Given the description of an element on the screen output the (x, y) to click on. 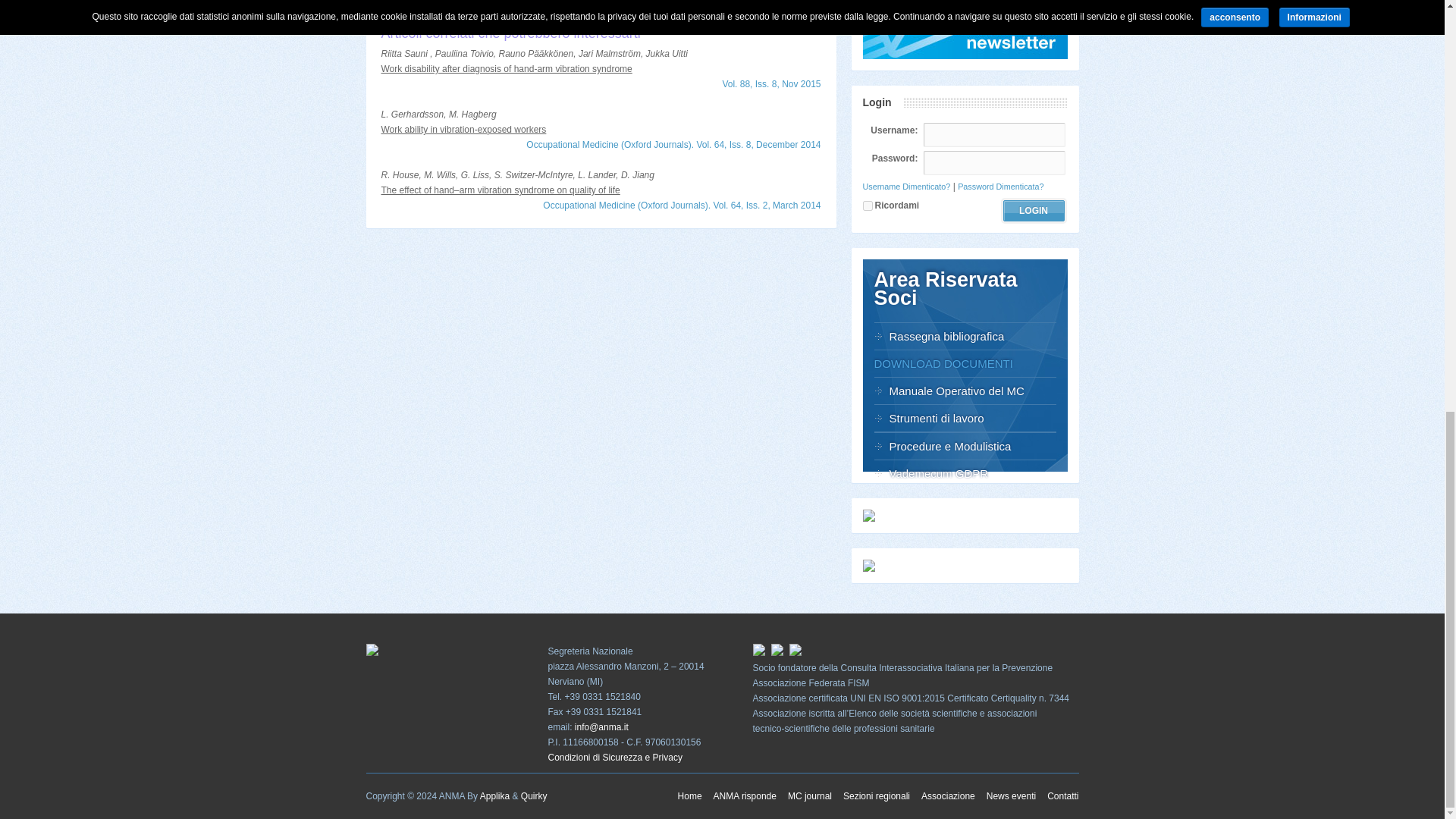
forever (867, 205)
Username (993, 134)
Password (993, 162)
LOGIN (1033, 210)
